Given the description of an element on the screen output the (x, y) to click on. 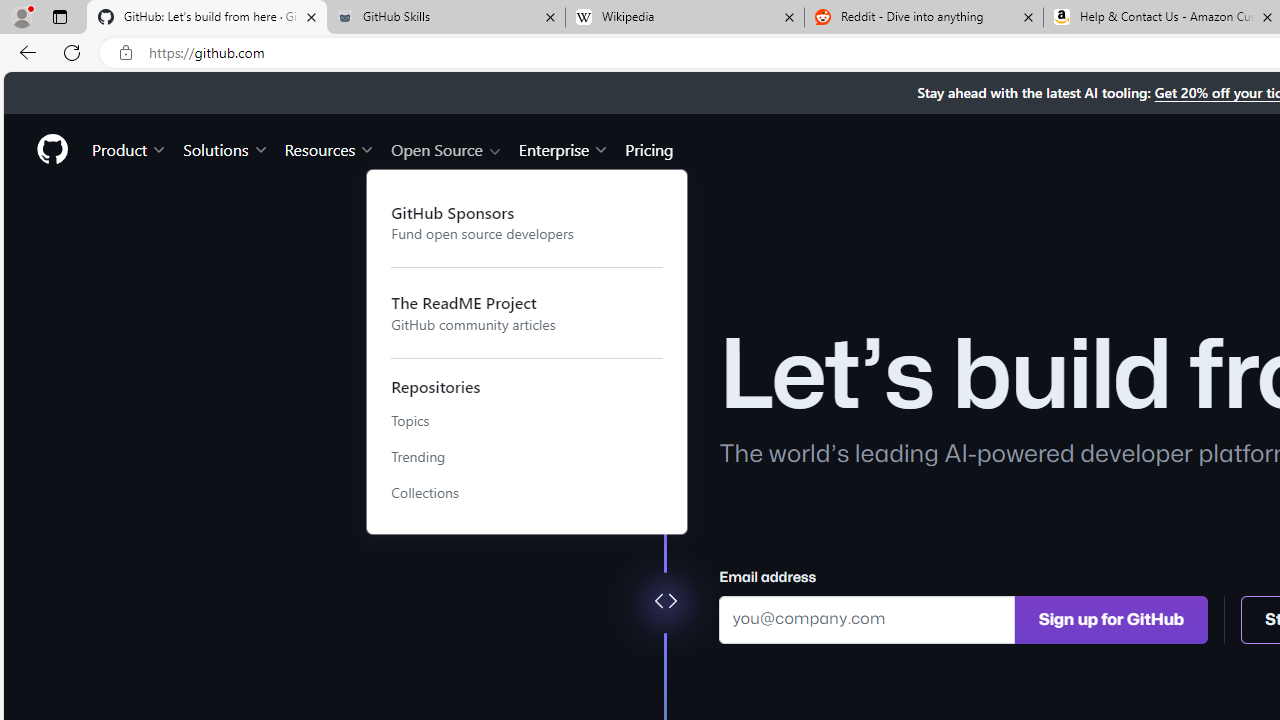
Trending (527, 457)
GitHub Sponsors Fund open source developers (527, 221)
Wikipedia (684, 17)
Topics (527, 421)
Resources (330, 148)
Reddit - Dive into anything (924, 17)
GitHub Skills (445, 17)
Enterprise (563, 148)
Topics (527, 421)
Email address (867, 618)
